Given the description of an element on the screen output the (x, y) to click on. 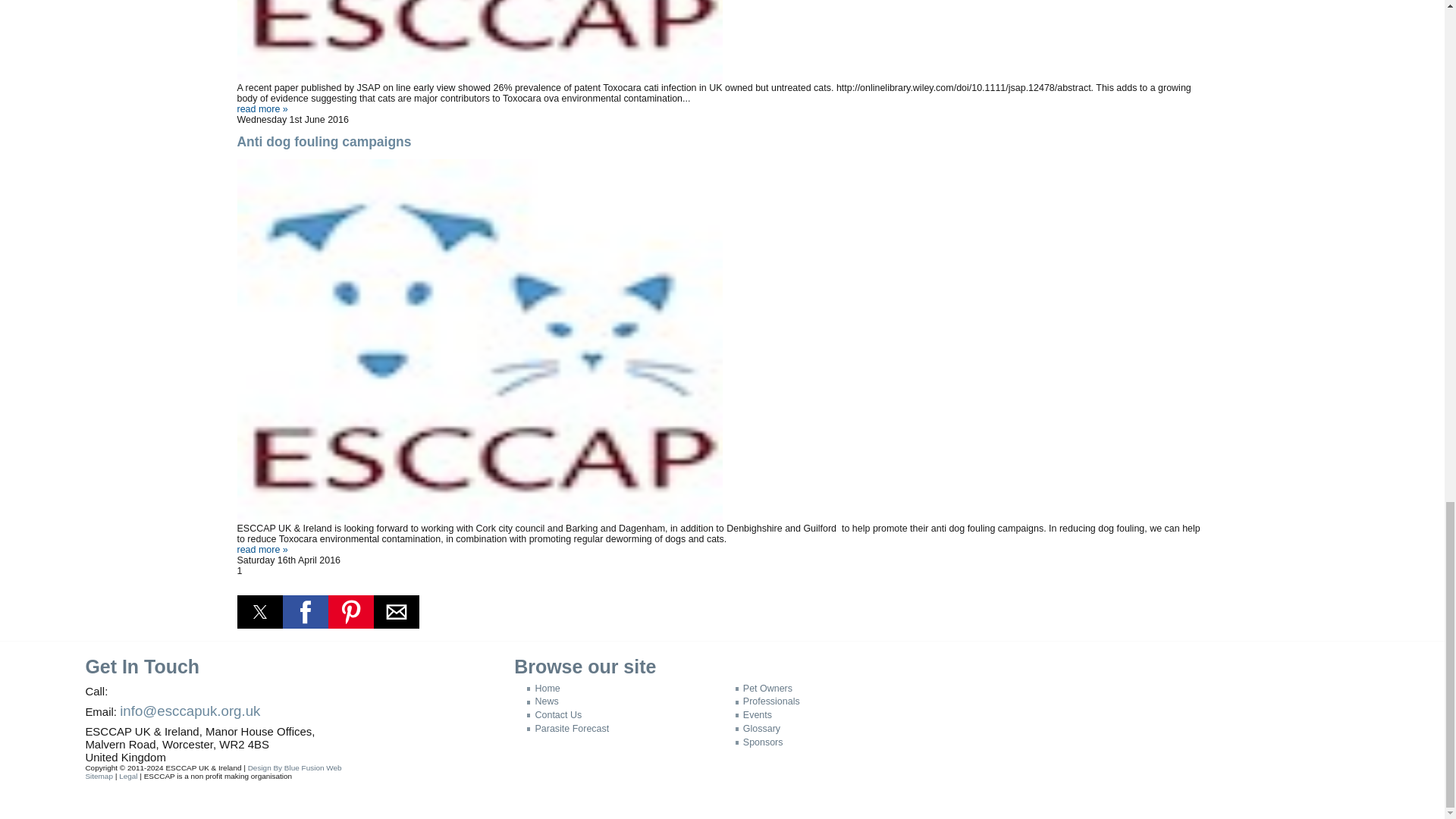
Parasite Forecast (567, 728)
Contact Us (553, 715)
Professionals (767, 701)
News (542, 701)
Pet Owners (763, 688)
Legal (127, 776)
Sitemap (98, 776)
Professionals (767, 701)
Anti dog fouling campaigns (260, 549)
Events (753, 715)
